Given the description of an element on the screen output the (x, y) to click on. 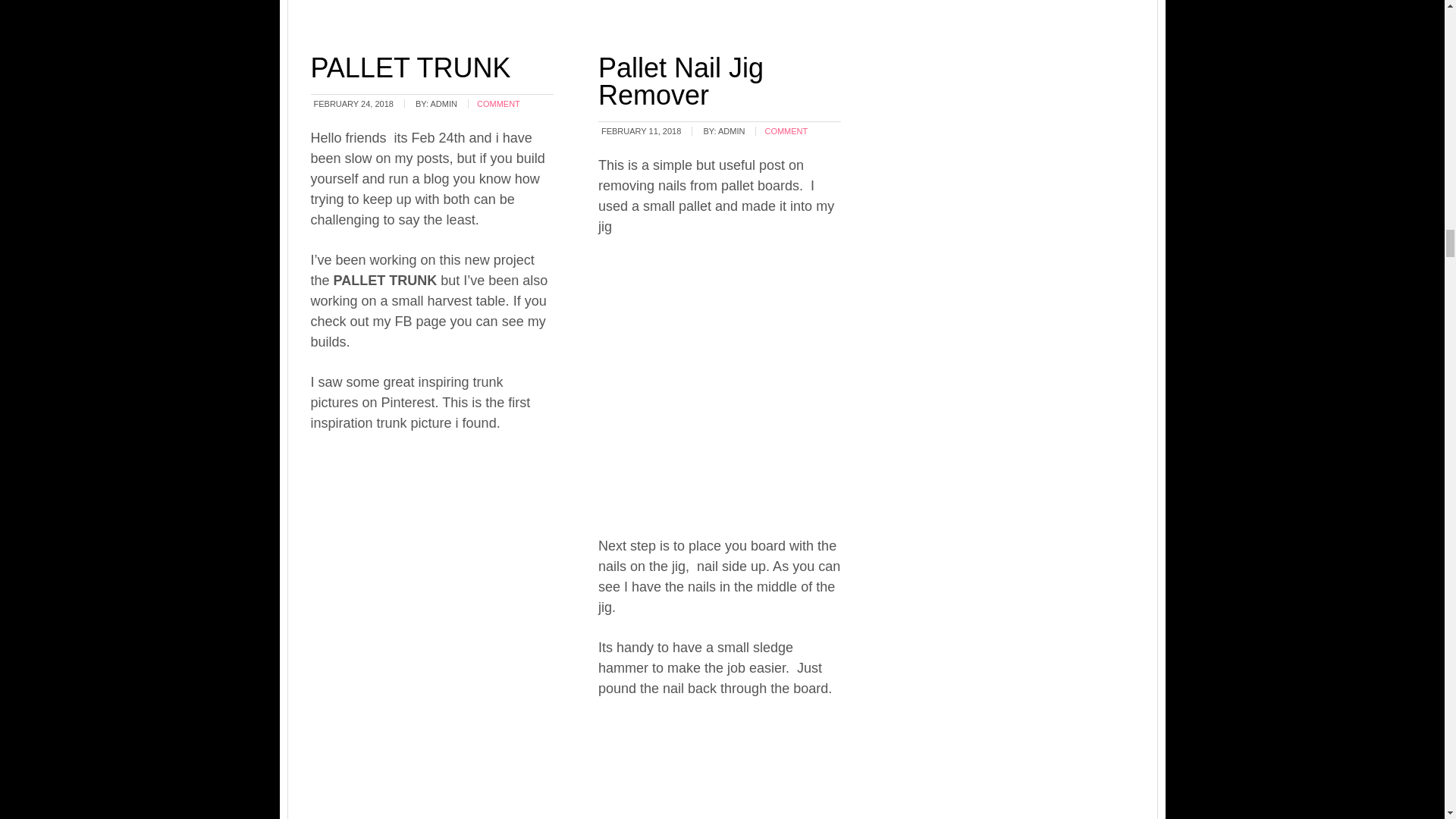
Pallet Nail Jig Remover (680, 81)
COMMENT (498, 103)
PALLET TRUNK (411, 67)
COMMENT (786, 130)
